Given the description of an element on the screen output the (x, y) to click on. 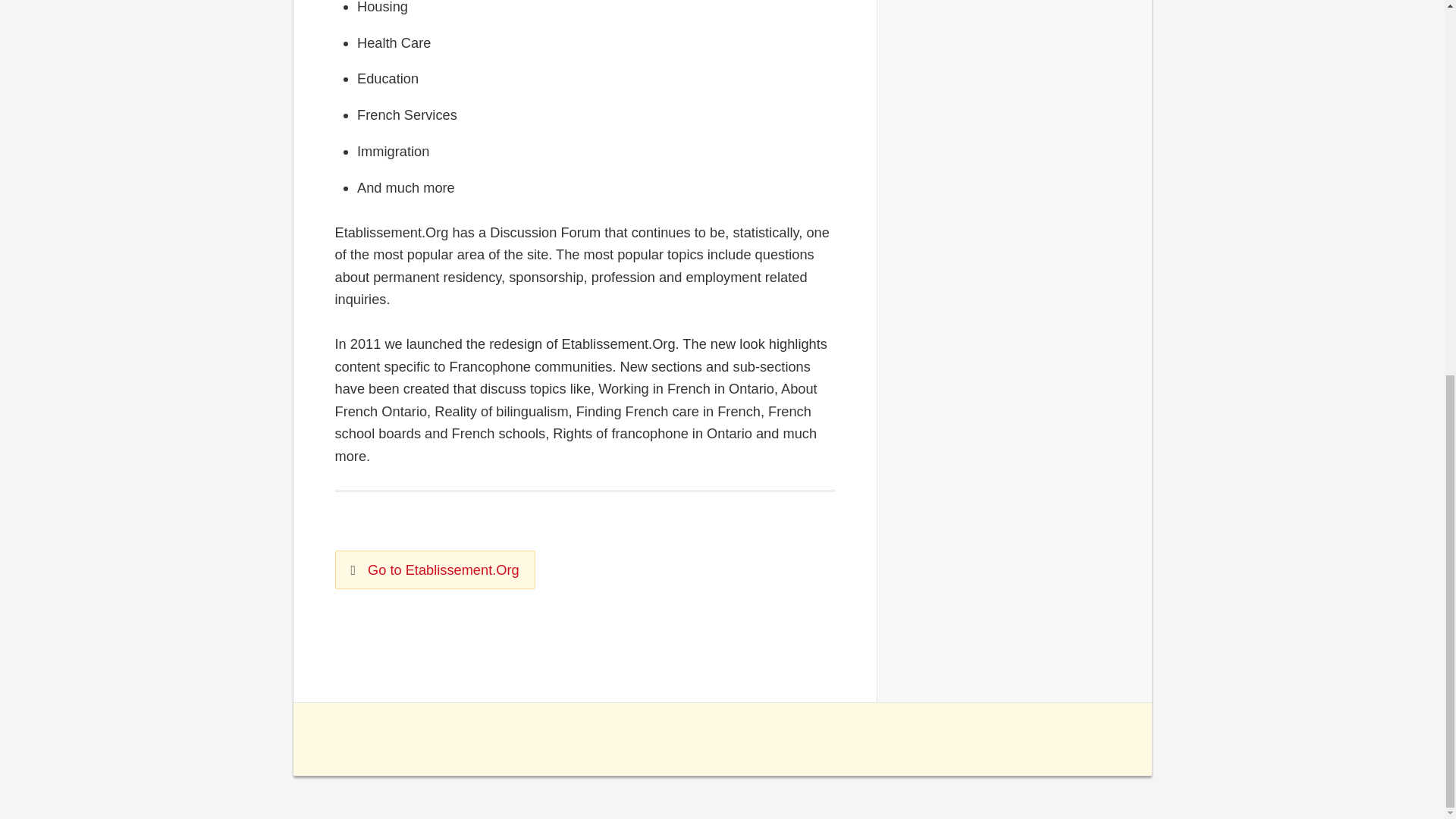
 Go to Etablissement.Org (434, 569)
